Given the description of an element on the screen output the (x, y) to click on. 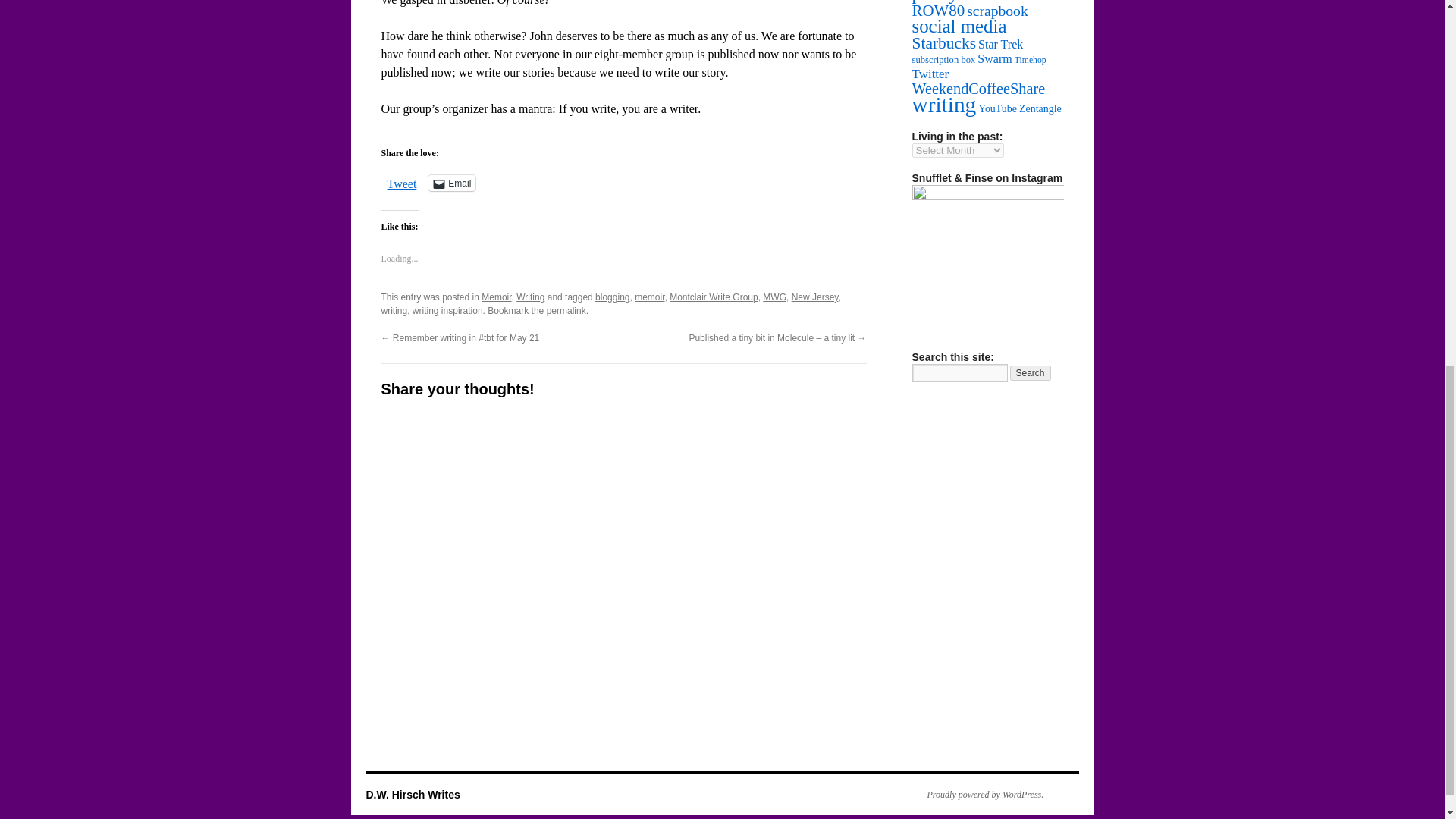
Memoir (496, 296)
Writing (530, 296)
Permalink to Questions from a fearful writer (566, 310)
blogging (611, 296)
memoir (648, 296)
Click to email a link to a friend (452, 182)
D.W. Hirsch Writes (412, 794)
writing (393, 310)
Tweet (401, 182)
writing inspiration (447, 310)
Montclair Write Group (713, 296)
Semantic Personal Publishing Platform (977, 794)
Search (1030, 372)
New Jersey (815, 296)
